Given the description of an element on the screen output the (x, y) to click on. 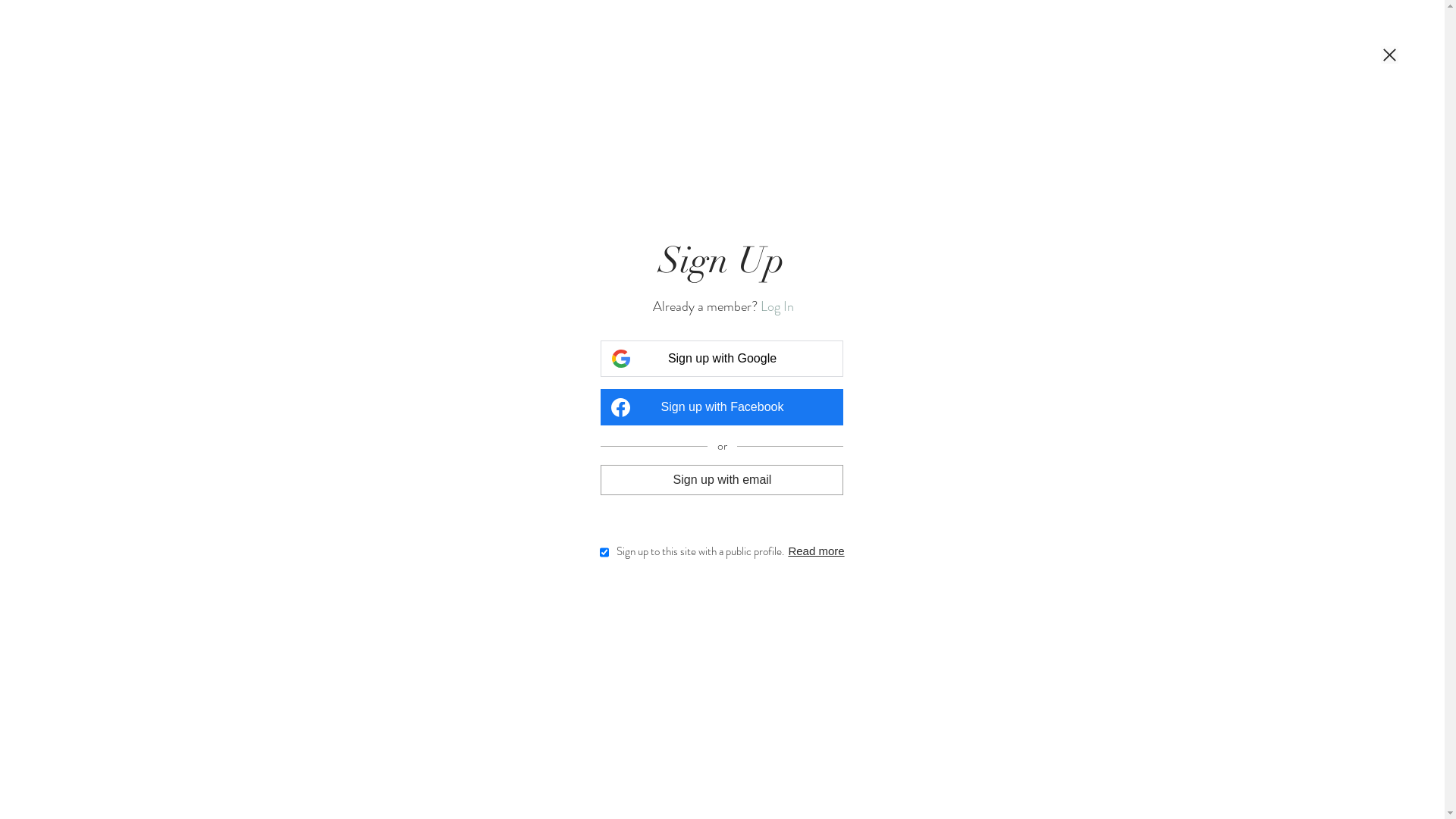
Sign up with email Element type: text (721, 479)
Sign up with Facebook Element type: text (721, 407)
Log In Element type: text (776, 306)
Read more Element type: text (815, 550)
Sign up with Google Element type: text (721, 358)
